Given the description of an element on the screen output the (x, y) to click on. 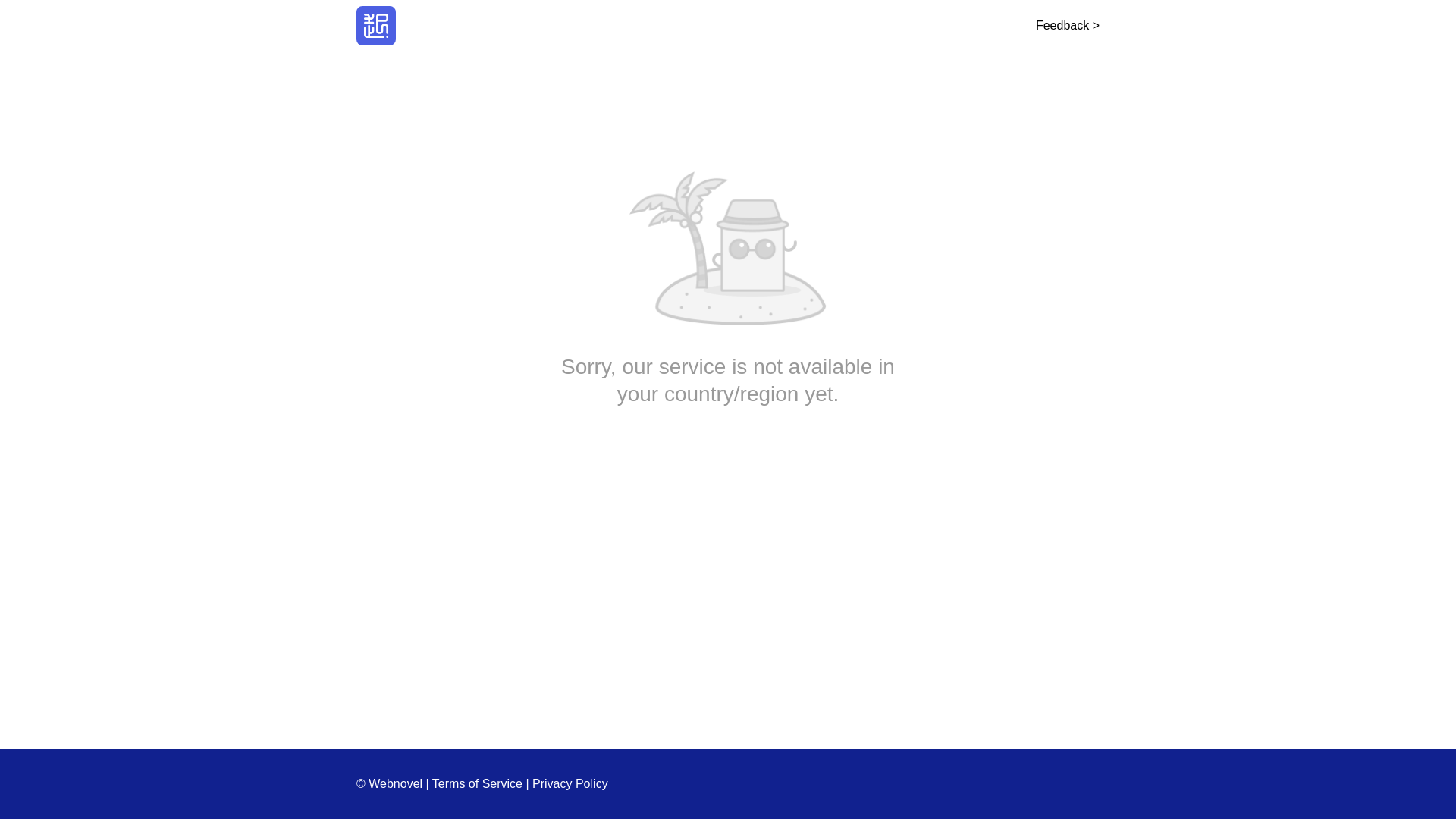
Terms of Service (477, 783)
Privacy Policy (570, 783)
Terms of Service (477, 783)
Feedback (1067, 24)
Webnovel (376, 25)
Privacy Policy (570, 783)
Webnovel (376, 25)
